Given the description of an element on the screen output the (x, y) to click on. 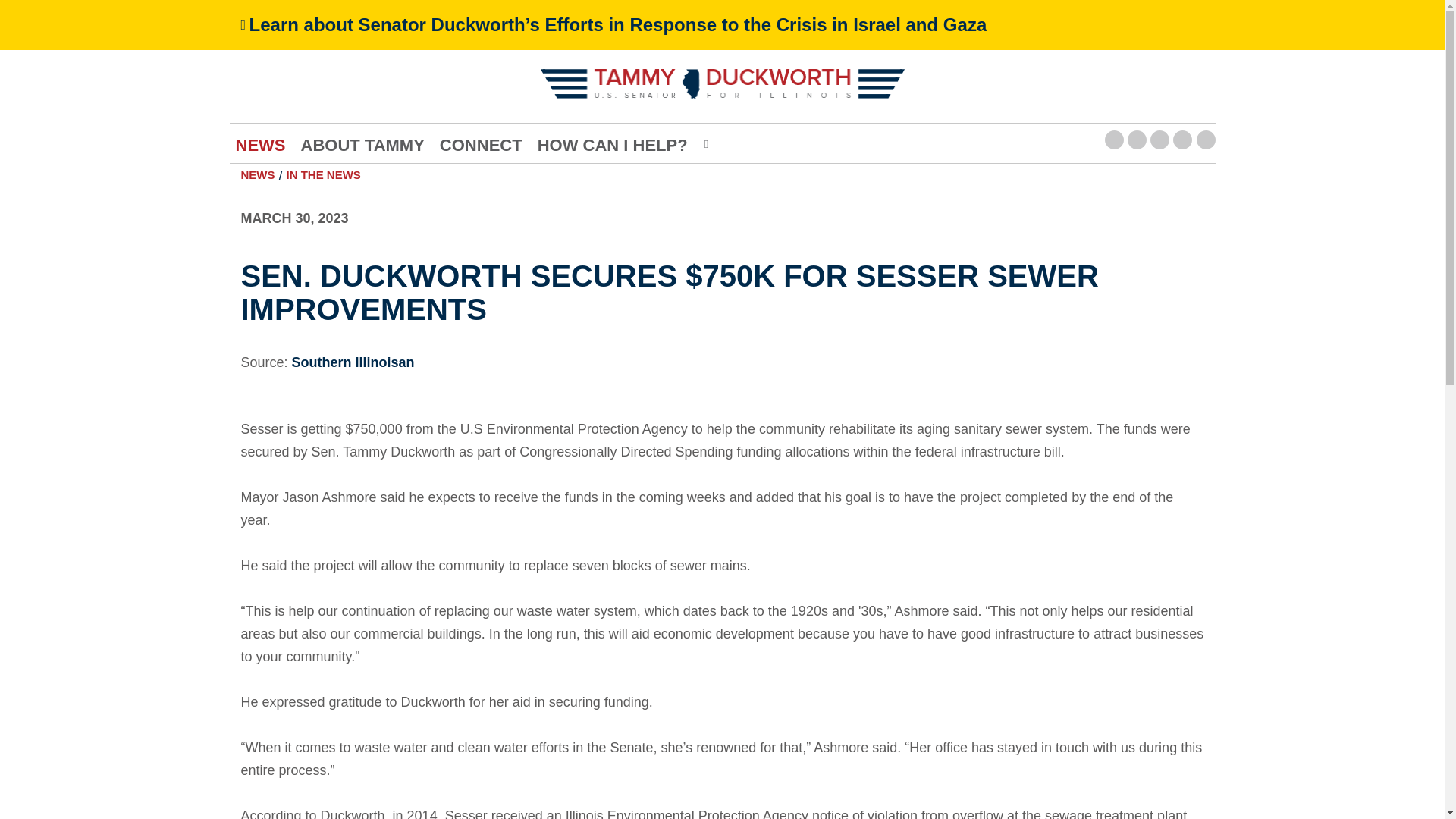
NEWS (259, 145)
ABOUT TAMMY (361, 145)
